Given the description of an element on the screen output the (x, y) to click on. 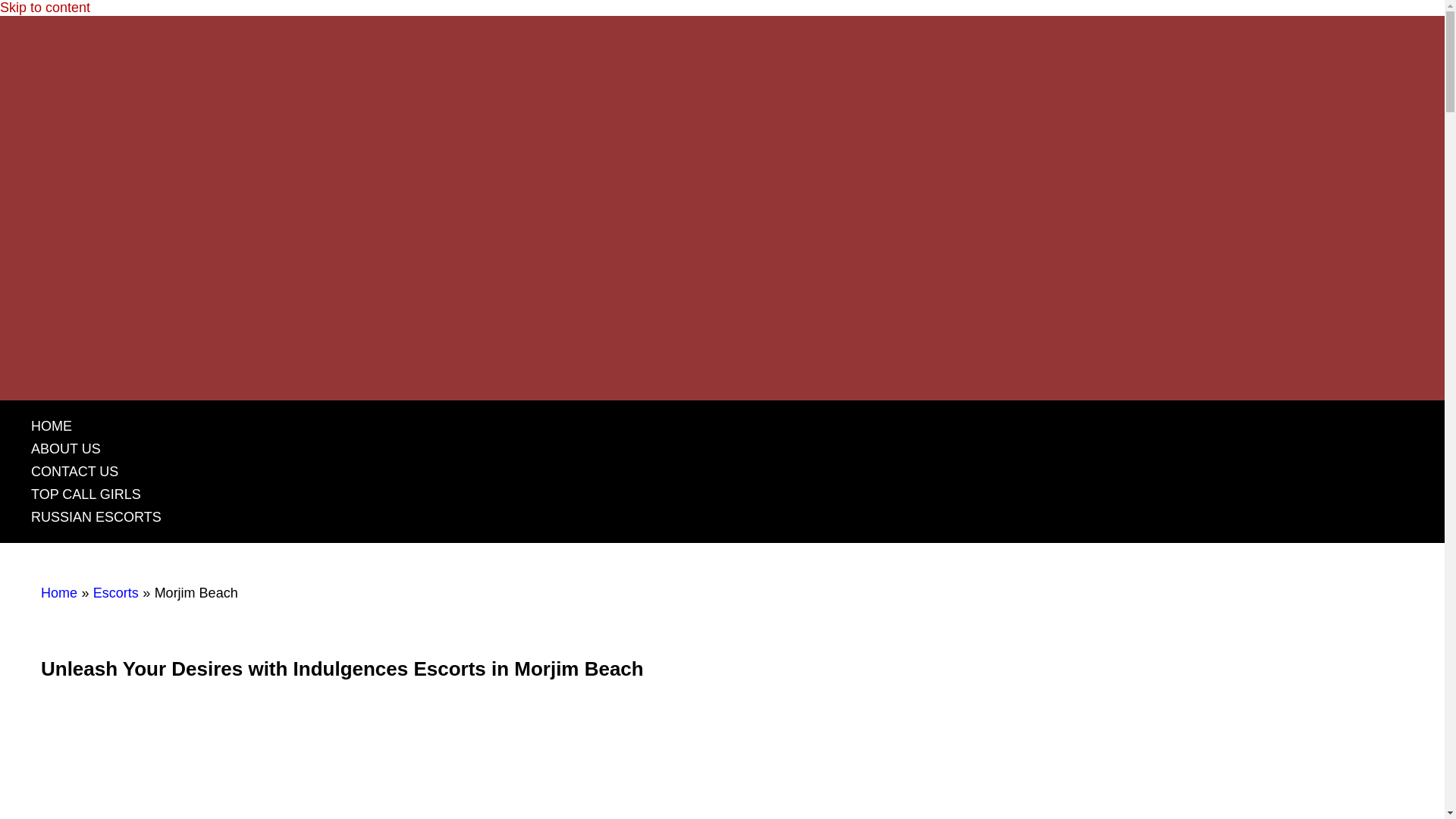
Escorts (115, 592)
RUSSIAN ESCORTS (95, 516)
Skip to content (45, 7)
TOP CALL GIRLS (85, 494)
Home (58, 592)
HOME (50, 426)
Skip to content (45, 7)
CONTACT US (73, 471)
ABOUT US (65, 448)
